Given the description of an element on the screen output the (x, y) to click on. 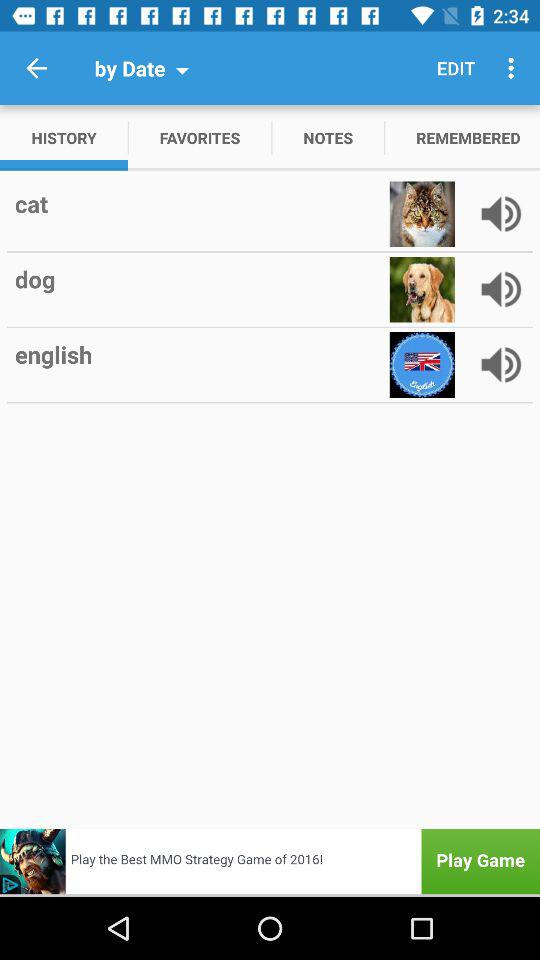
press the app next to the favorites icon (327, 137)
